Given the description of an element on the screen output the (x, y) to click on. 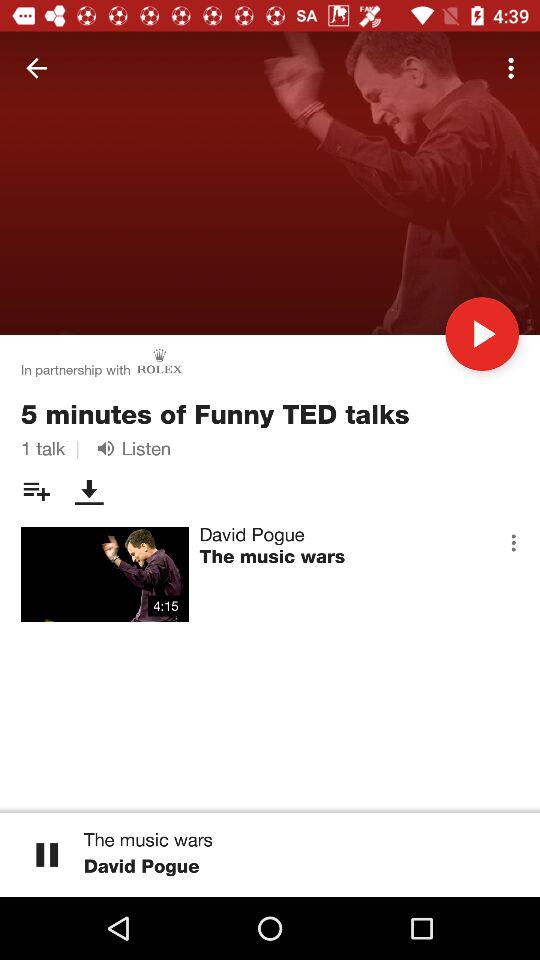
choose icon above the in partnership with item (36, 68)
